Given the description of an element on the screen output the (x, y) to click on. 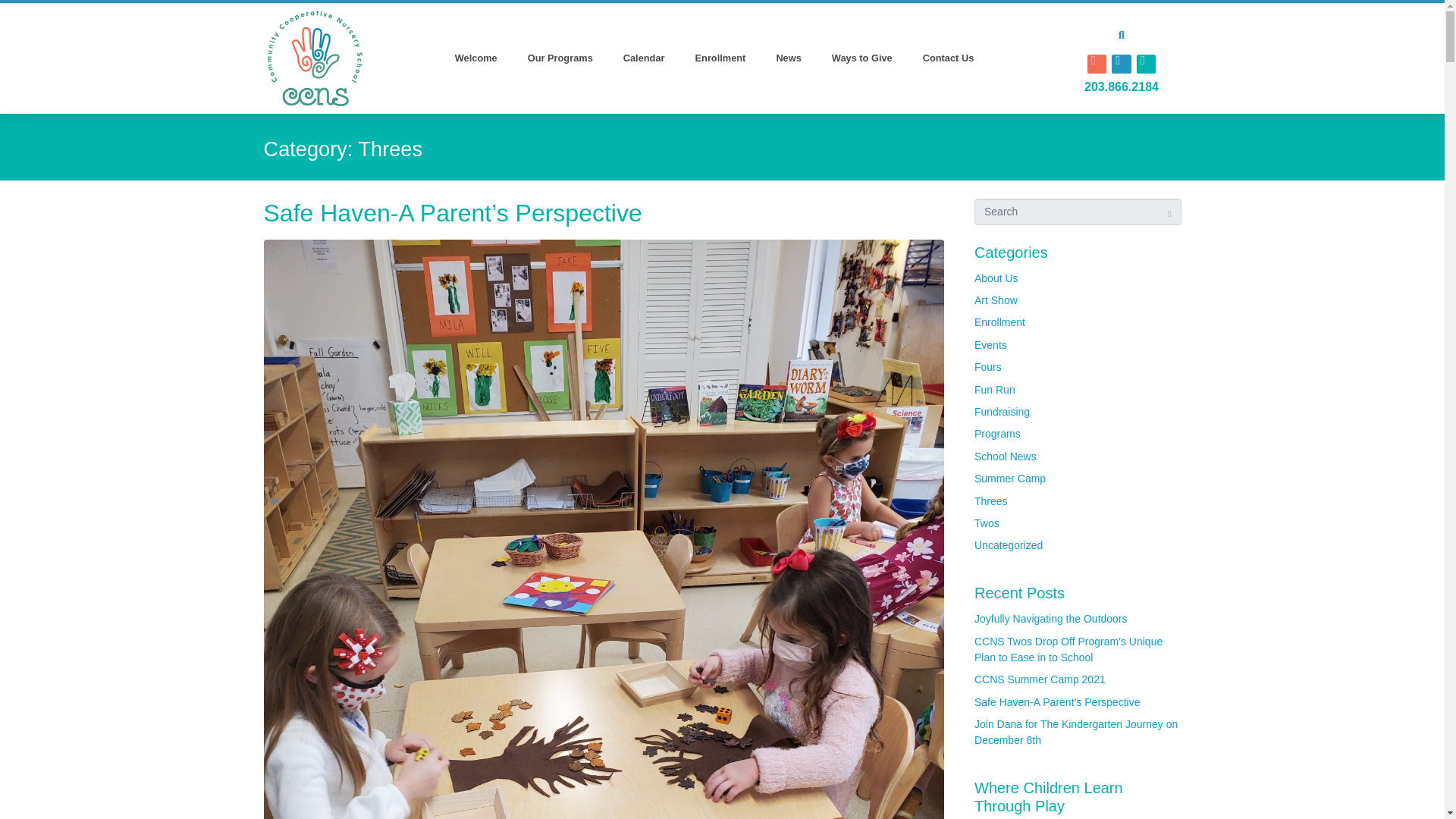
Ways to Give (861, 58)
Calendar (643, 58)
Welcome (475, 58)
News (787, 58)
Contact Us (948, 58)
Our Programs (560, 58)
Enrollment (720, 58)
